Given the description of an element on the screen output the (x, y) to click on. 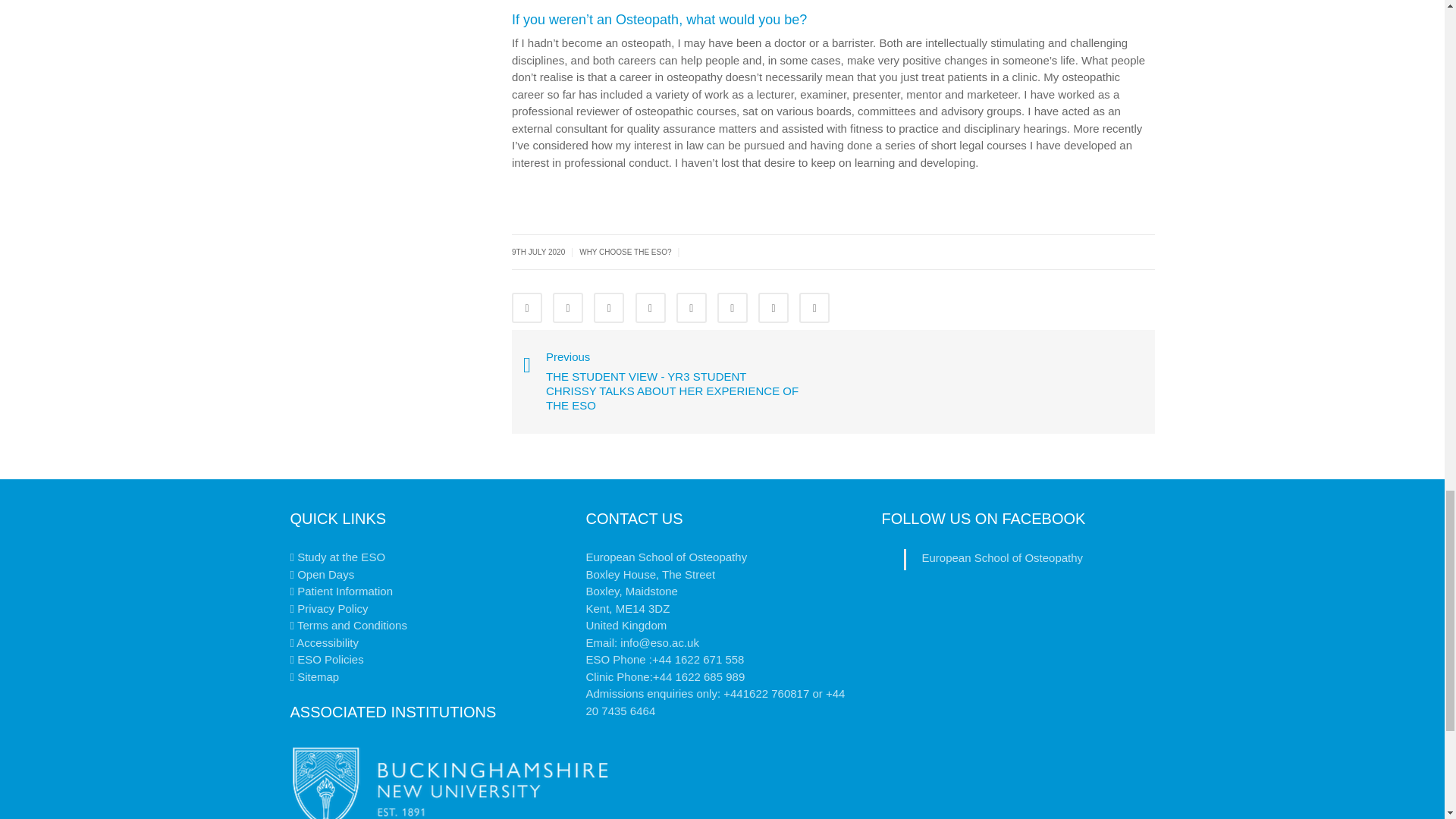
Share on Google Plus (691, 307)
Share on Facebook (526, 307)
Share on LinkedIn (609, 307)
Share on Twitter (568, 307)
Pin this (732, 307)
Share on Tumblr (649, 307)
Email this (814, 307)
Share on Vk (773, 307)
